Given the description of an element on the screen output the (x, y) to click on. 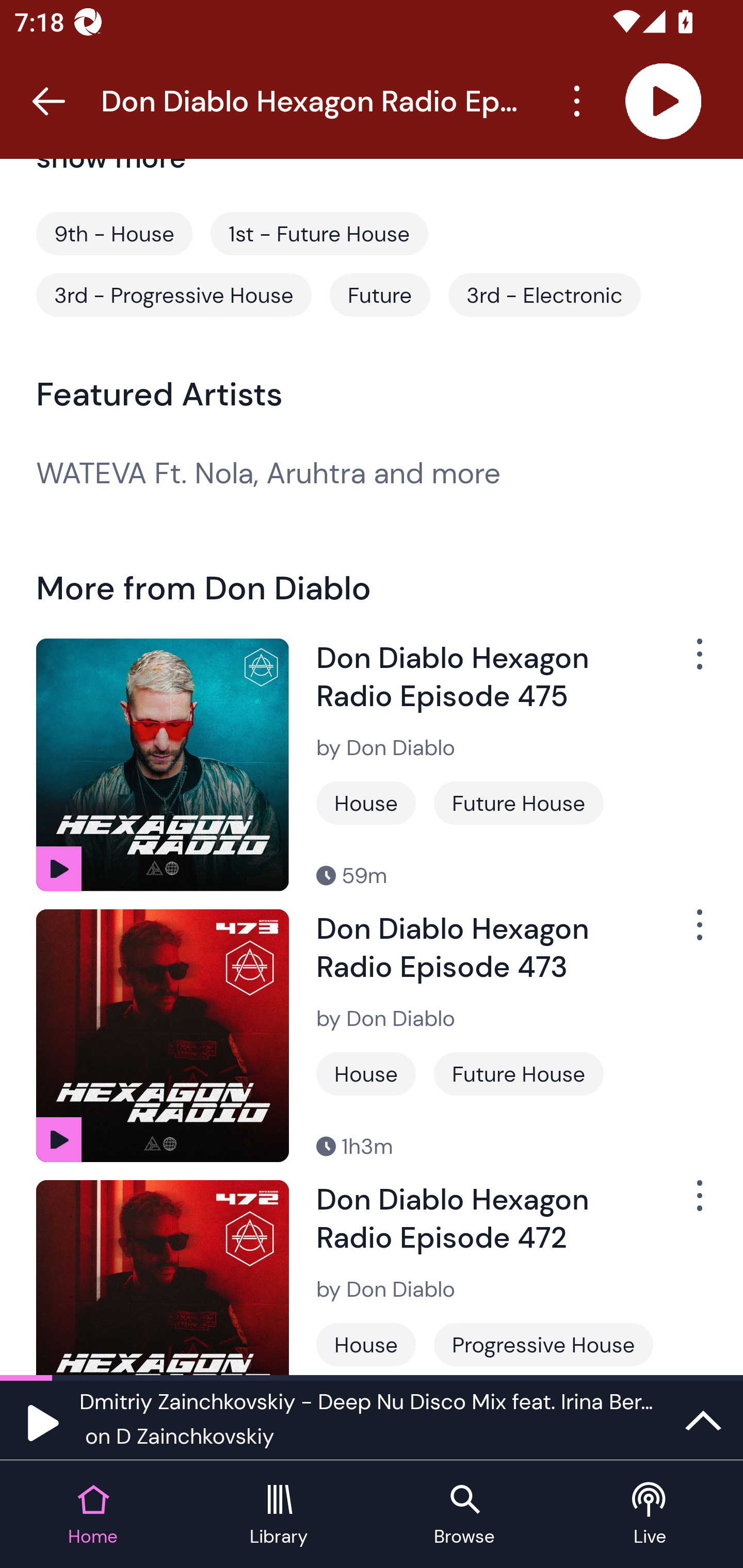
9th - House (114, 233)
1st - Future House (318, 233)
3rd - Progressive House (173, 294)
Future (379, 294)
3rd - Electronic (544, 294)
Show Options Menu Button (688, 661)
House (366, 802)
Future House (518, 802)
Show Options Menu Button (688, 932)
House (366, 1074)
Future House (518, 1074)
Show Options Menu Button (688, 1203)
House (366, 1344)
Progressive House (543, 1344)
Home tab Home (92, 1515)
Library tab Library (278, 1515)
Browse tab Browse (464, 1515)
Live tab Live (650, 1515)
